Given the description of an element on the screen output the (x, y) to click on. 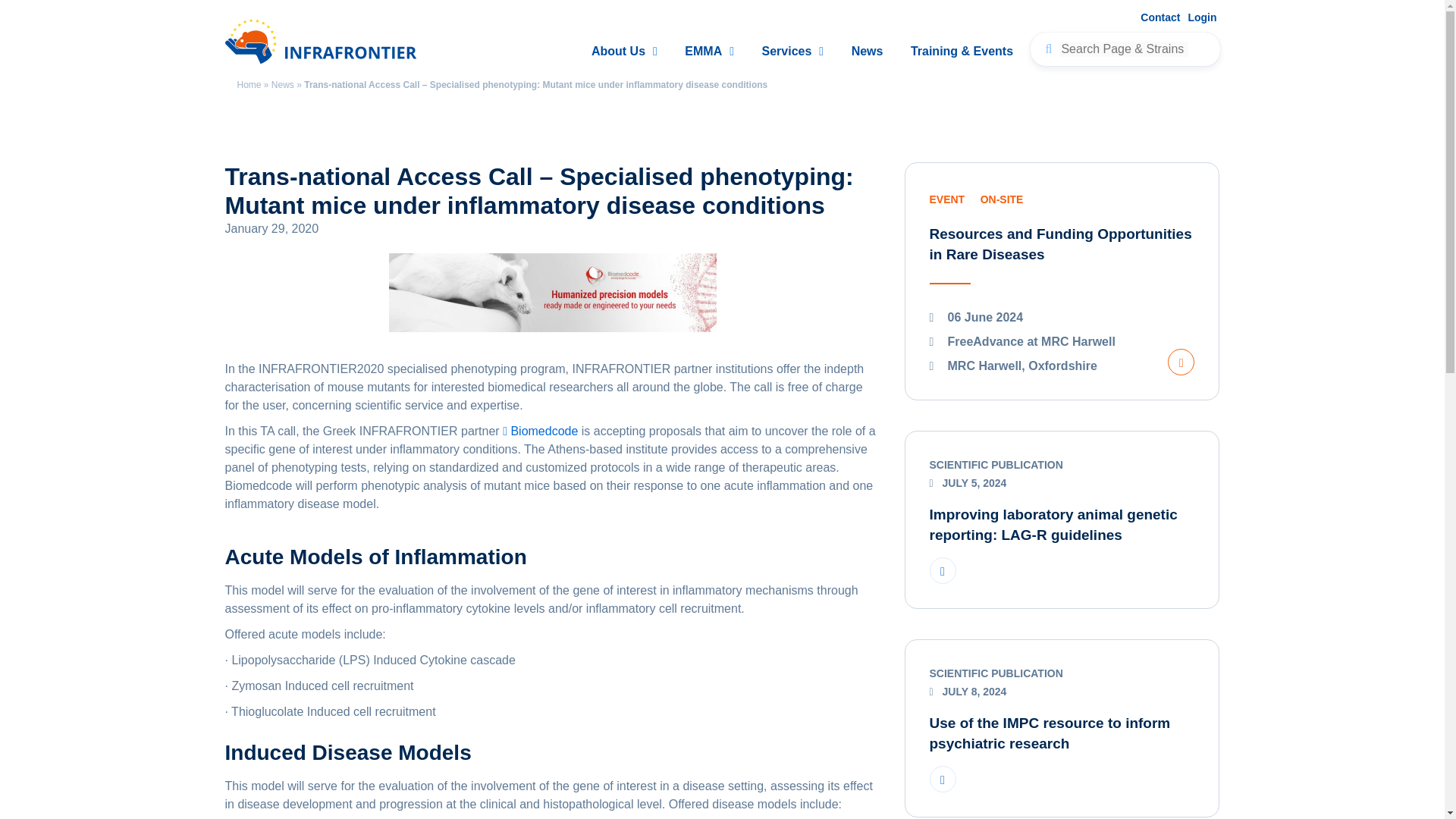
Login (1201, 17)
News (282, 84)
Home (247, 84)
News (867, 52)
About Us (624, 52)
Contact (1160, 17)
EMMA (708, 52)
Biomedcode (540, 431)
Services (792, 52)
